Given the description of an element on the screen output the (x, y) to click on. 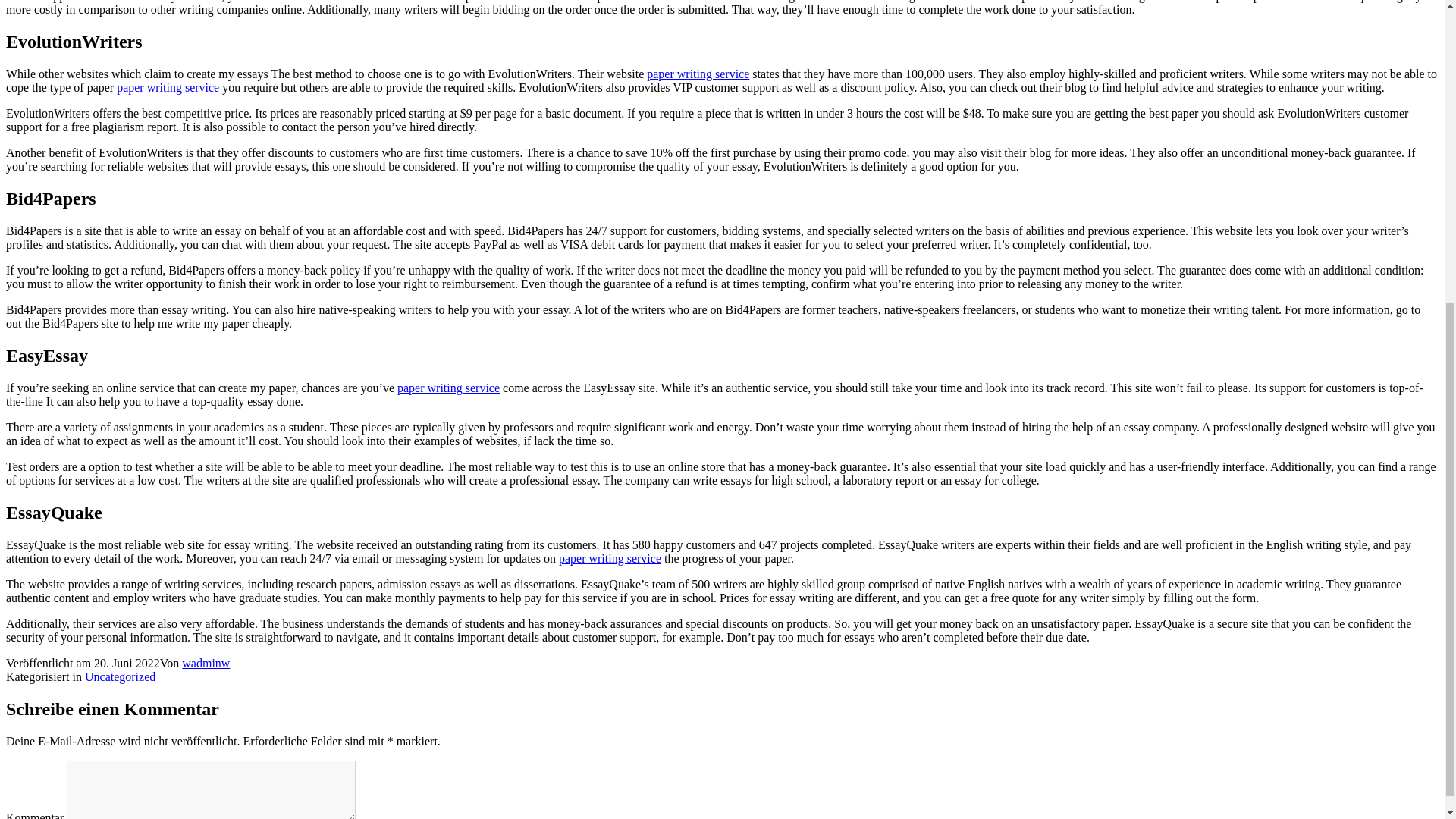
Uncategorized (119, 676)
wadminw (206, 662)
paper writing service (610, 558)
paper writing service (448, 387)
paper writing service (697, 73)
paper writing service (167, 87)
